Given the description of an element on the screen output the (x, y) to click on. 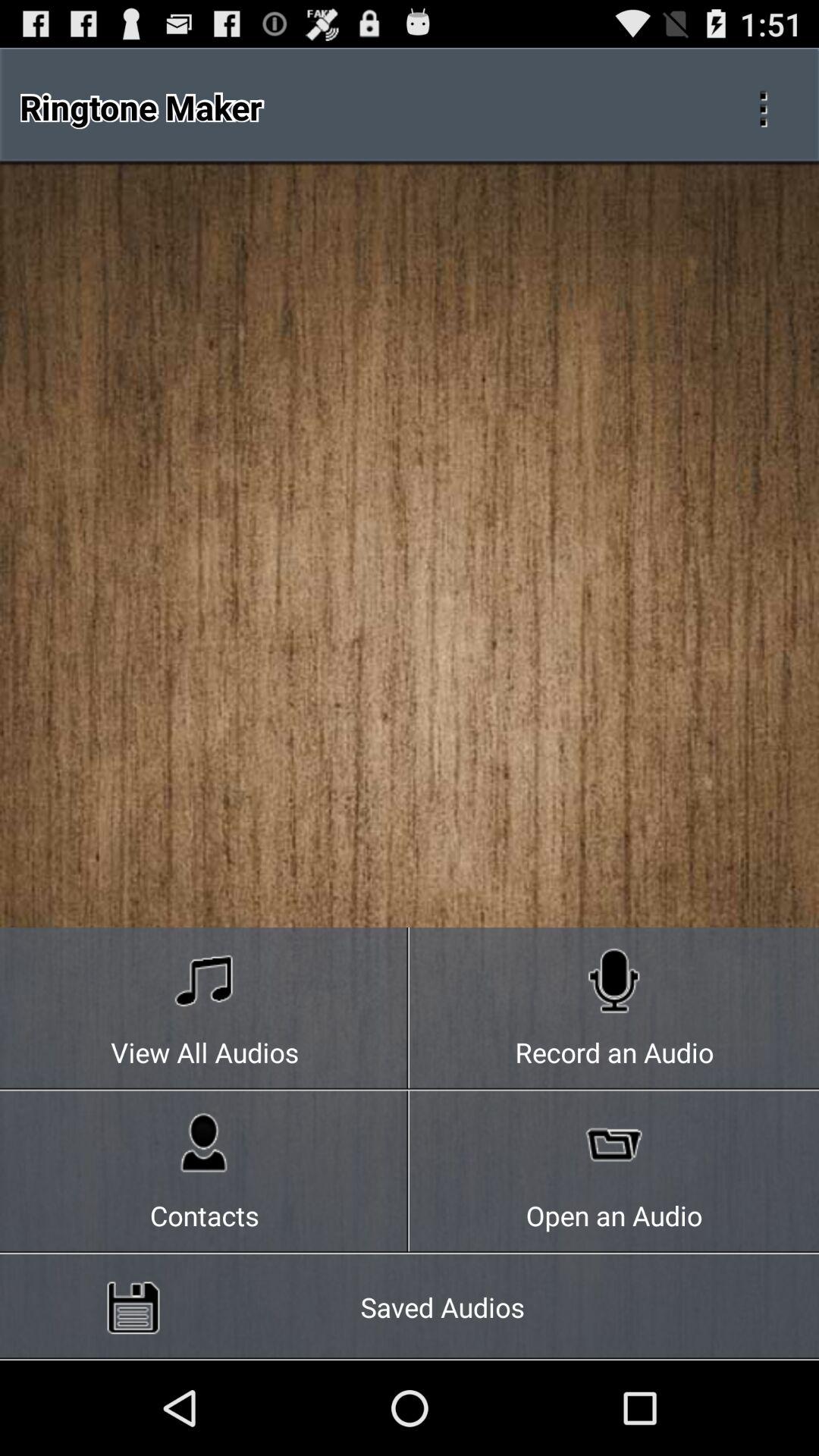
open the icon next to record an audio (204, 1008)
